Given the description of an element on the screen output the (x, y) to click on. 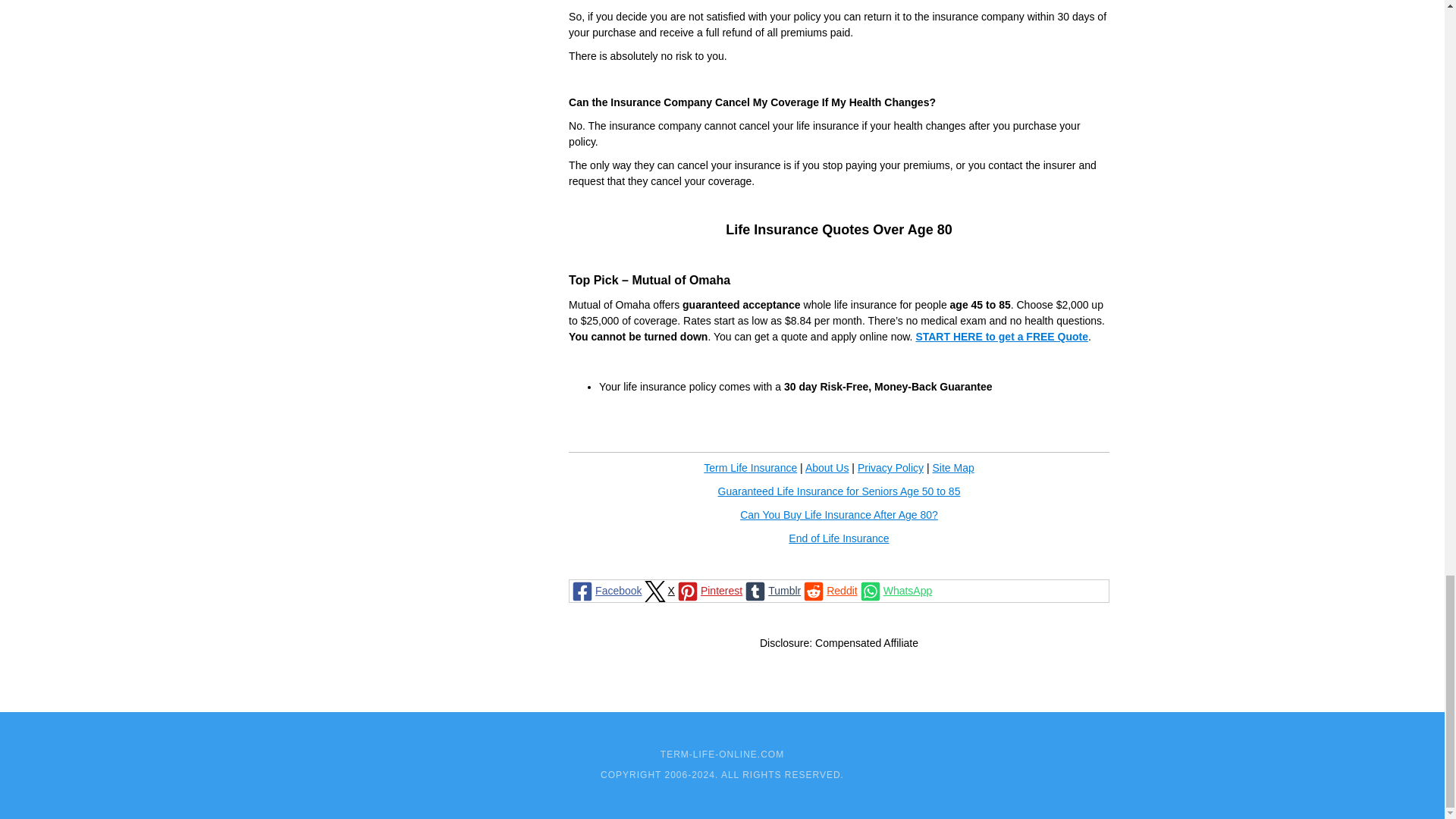
Privacy Policy (890, 467)
End of Life Insurance (838, 538)
X (658, 590)
Pinterest (708, 590)
About Us (826, 467)
START HERE to get a FREE Quote (1001, 336)
Guaranteed Life Insurance for Seniors Age 50 to 85 (838, 491)
Site Map (952, 467)
WhatsApp (895, 590)
Term Life Insurance (749, 467)
